Given the description of an element on the screen output the (x, y) to click on. 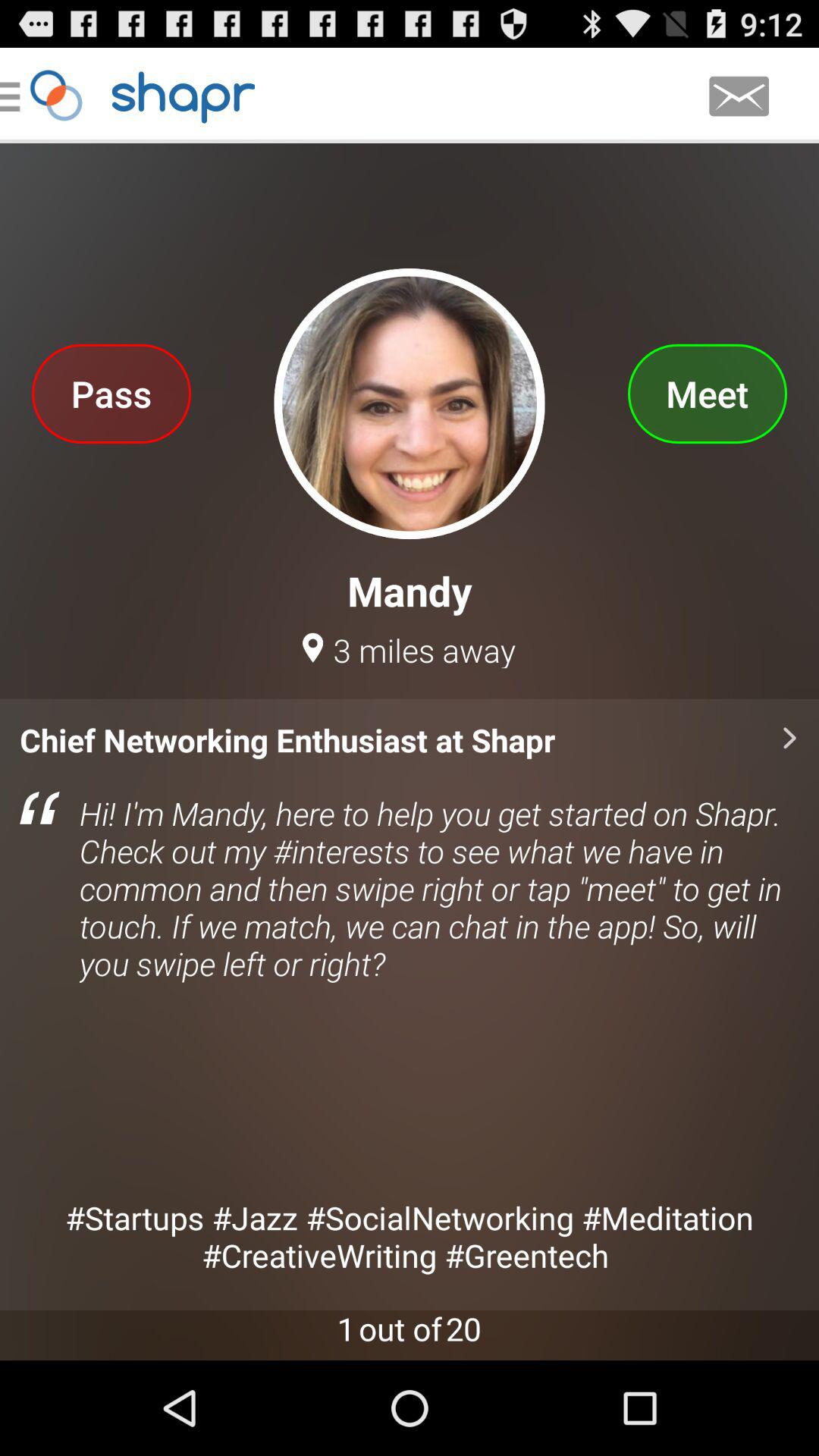
tap icon above mandy icon (707, 393)
